Given the description of an element on the screen output the (x, y) to click on. 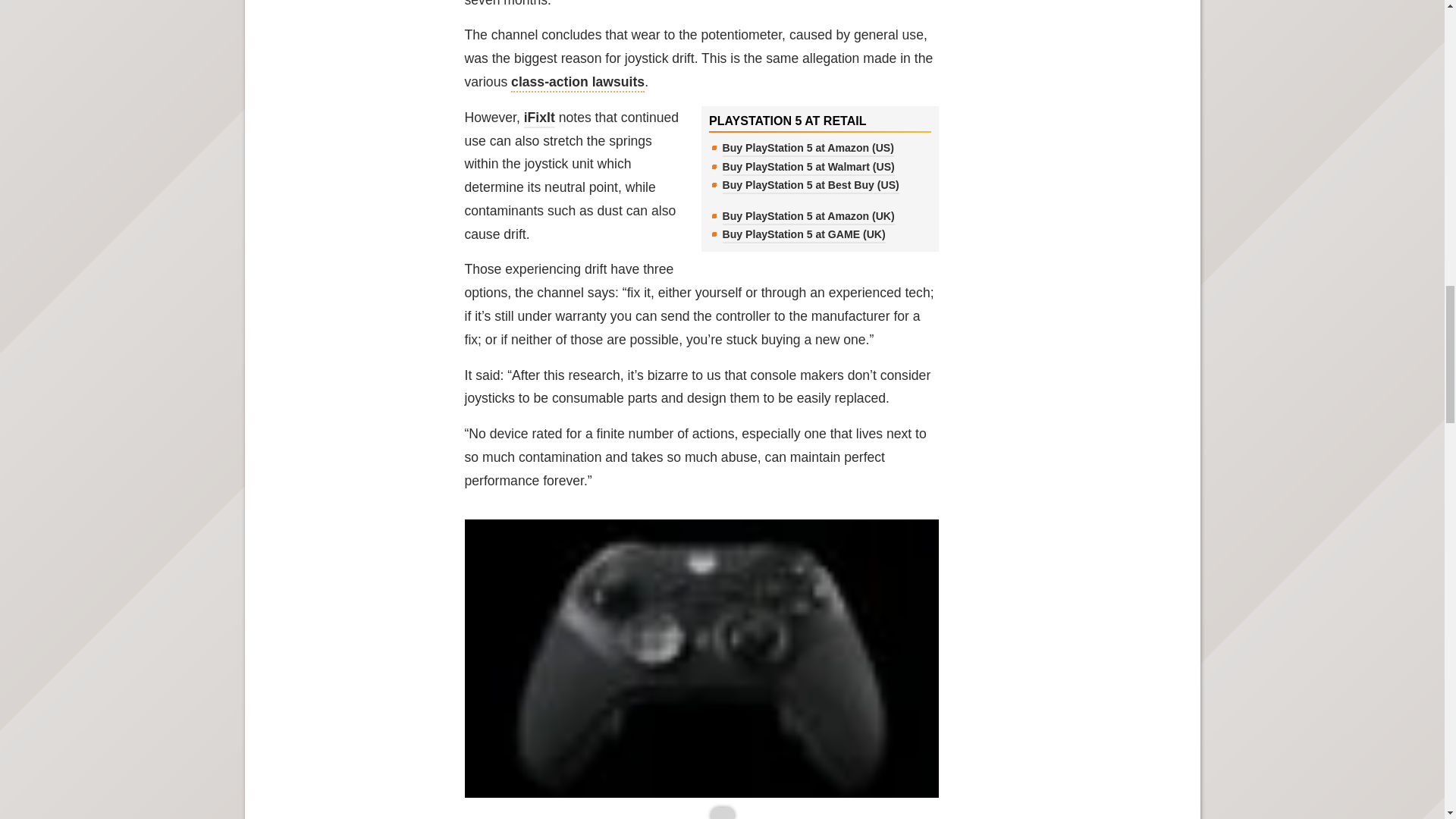
class-action lawsuits (578, 83)
